Given the description of an element on the screen output the (x, y) to click on. 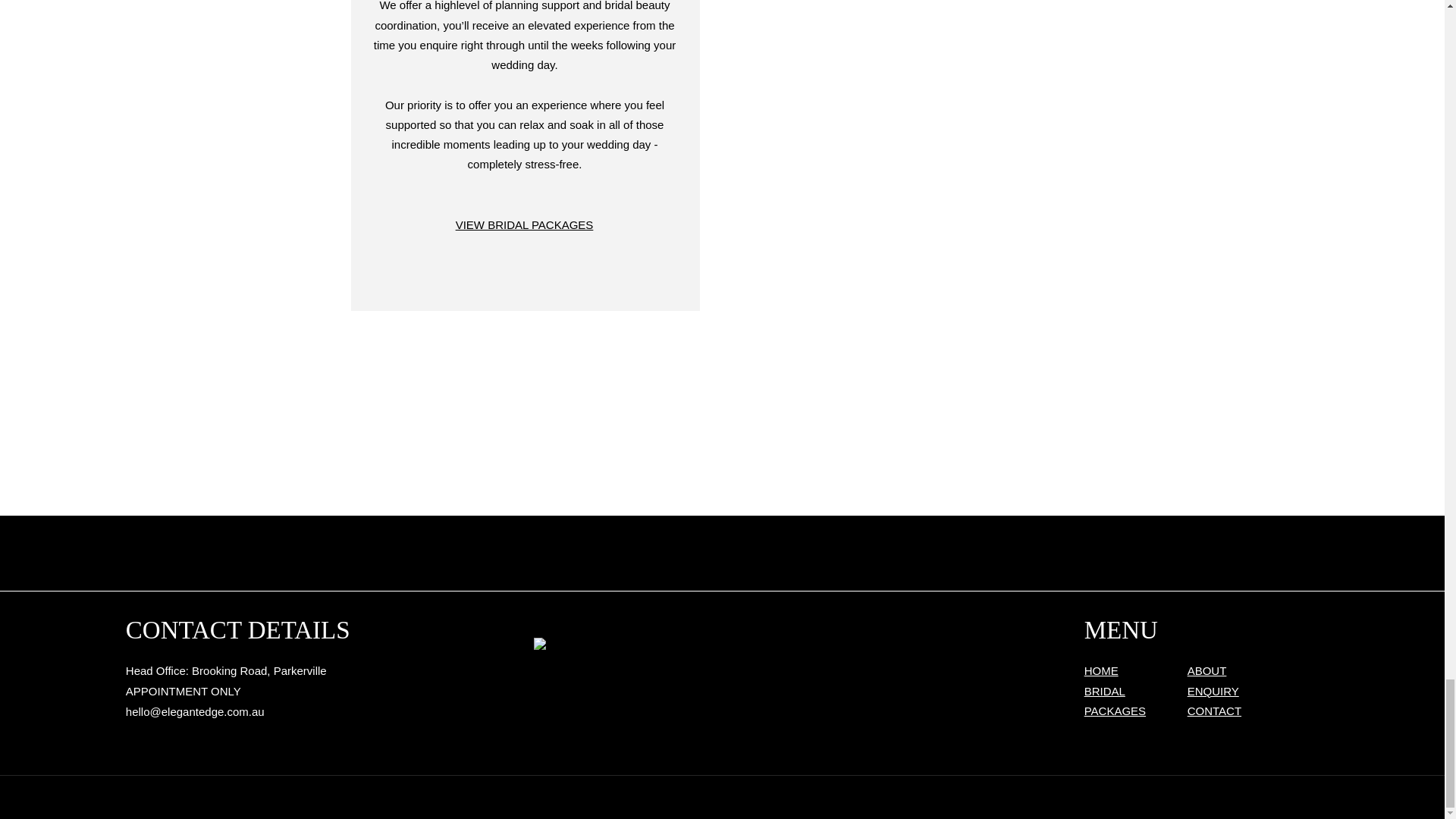
ENQUIRY (1213, 690)
ABOUT (1207, 670)
PACKAGES (1114, 710)
BRIDAL (1104, 690)
HOME (1101, 670)
CONTACT (1214, 710)
VIEW BRIDAL PACKAGES (524, 224)
